Given the description of an element on the screen output the (x, y) to click on. 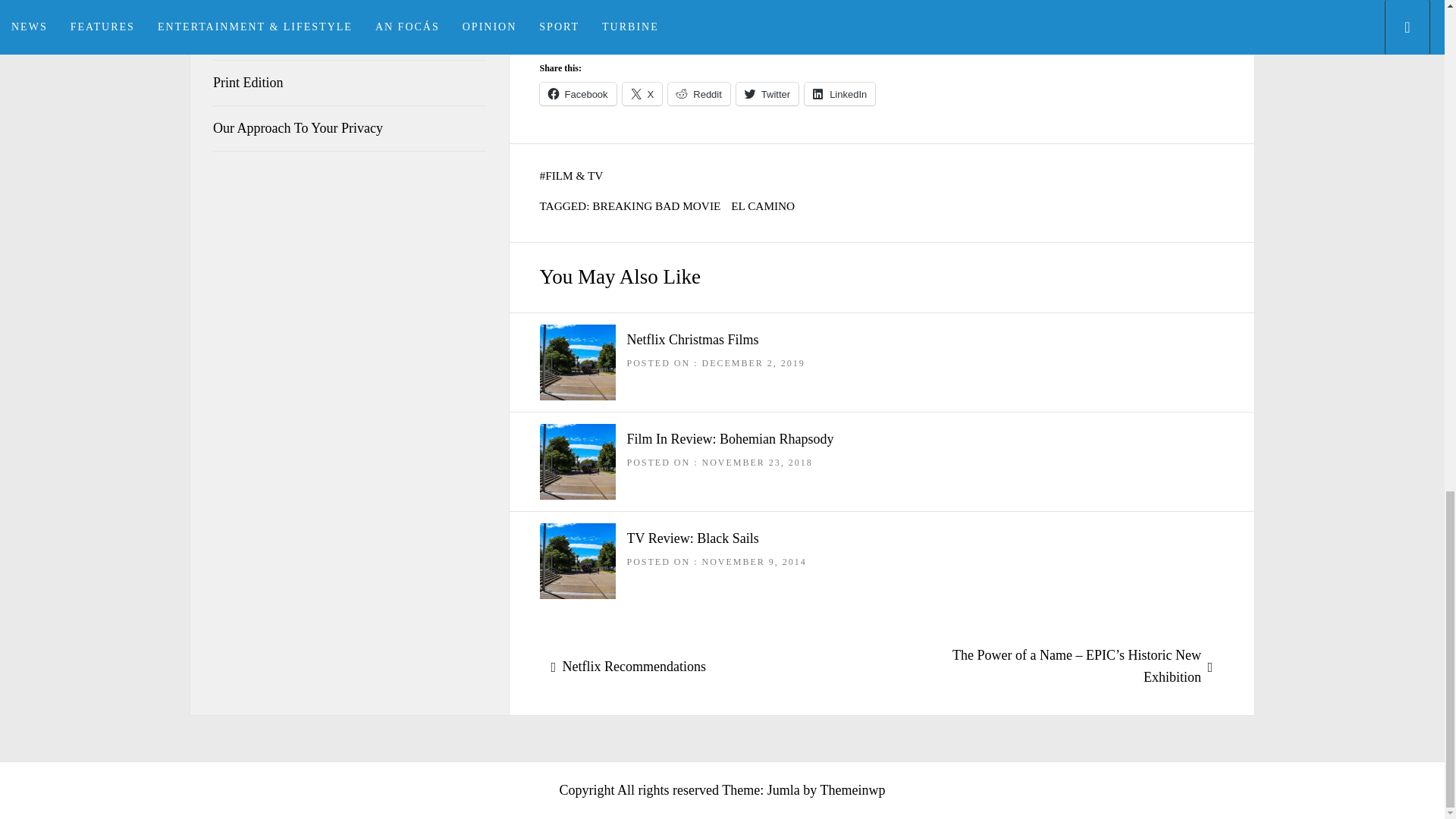
Facebook (577, 93)
Reddit (699, 93)
Click to share on LinkedIn (840, 93)
X (642, 93)
Click to share on X (642, 93)
Twitter (766, 93)
LinkedIn (840, 93)
Click to share on Twitter (766, 93)
Click to share on Facebook (577, 93)
Click to share on Reddit (699, 93)
